Given the description of an element on the screen output the (x, y) to click on. 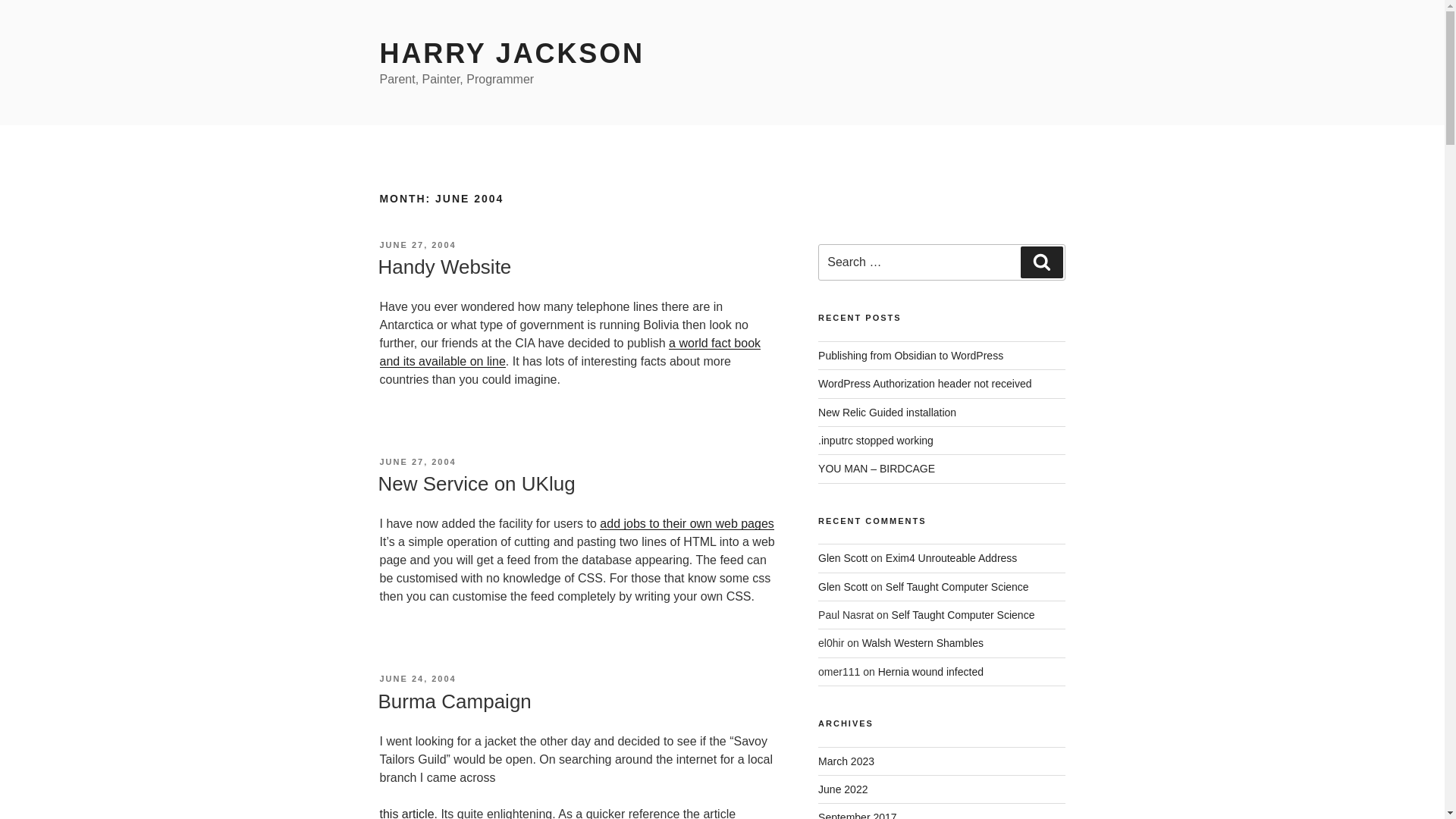
add jobs to their own web pages (686, 522)
Handy Website (444, 266)
Publishing from Obsidian to WordPress (910, 355)
HARRY JACKSON (511, 52)
JUNE 24, 2004 (416, 678)
Self Taught Computer Science (963, 614)
Self Taught Computer Science (957, 586)
this article (405, 813)
Exim4 Unrouteable Address (951, 558)
Glen Scott (842, 586)
JUNE 27, 2004 (416, 461)
Glen Scott (842, 558)
WordPress Authorization header not received (924, 383)
.inputrc stopped working (875, 440)
New Service on UKlug (476, 483)
